Given the description of an element on the screen output the (x, y) to click on. 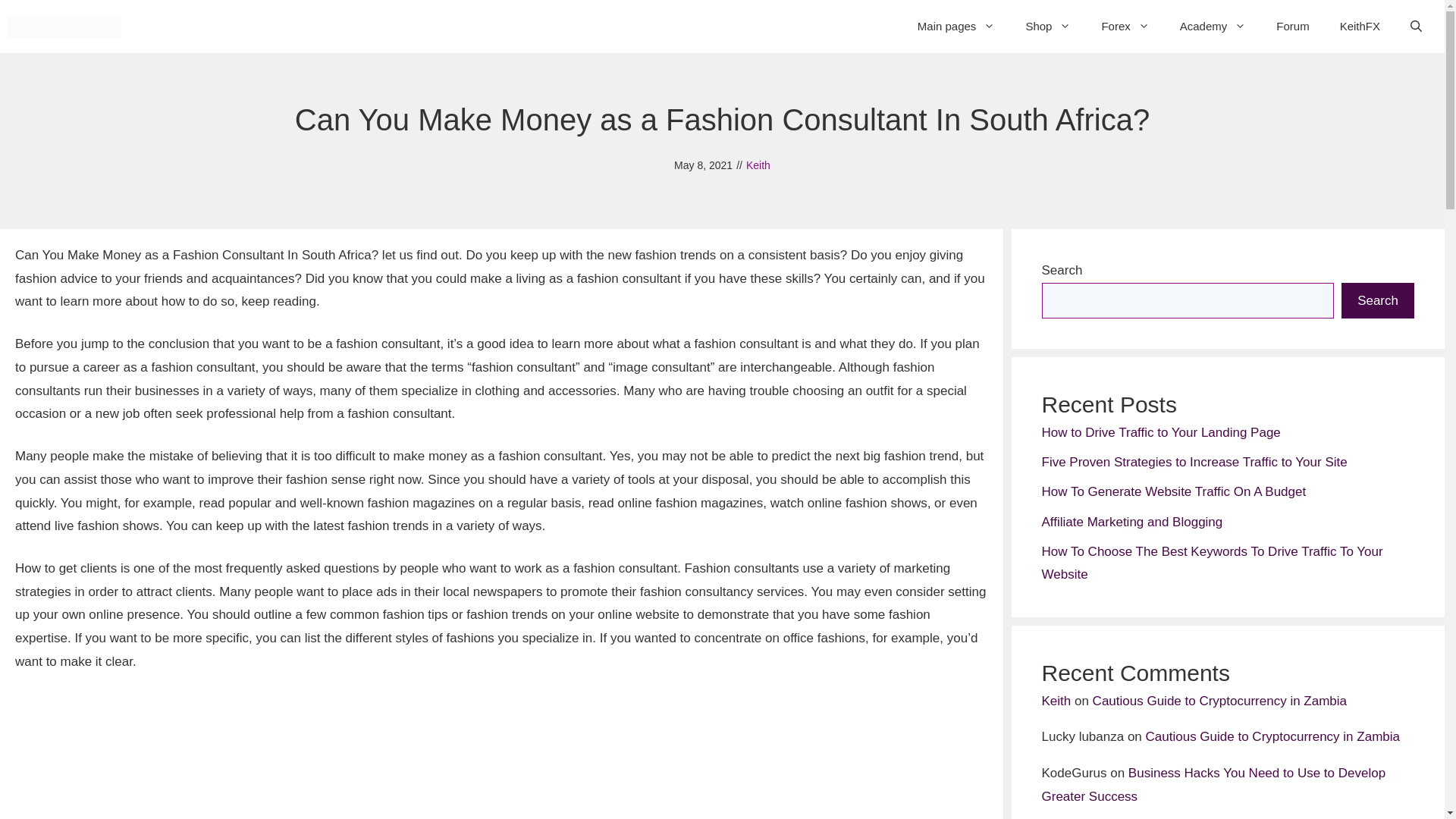
Advertisement (469, 755)
Shop (1048, 26)
Main pages (956, 26)
Forum (1291, 26)
KeithFX (1359, 26)
Academy (1213, 26)
Forex (1124, 26)
